Given the description of an element on the screen output the (x, y) to click on. 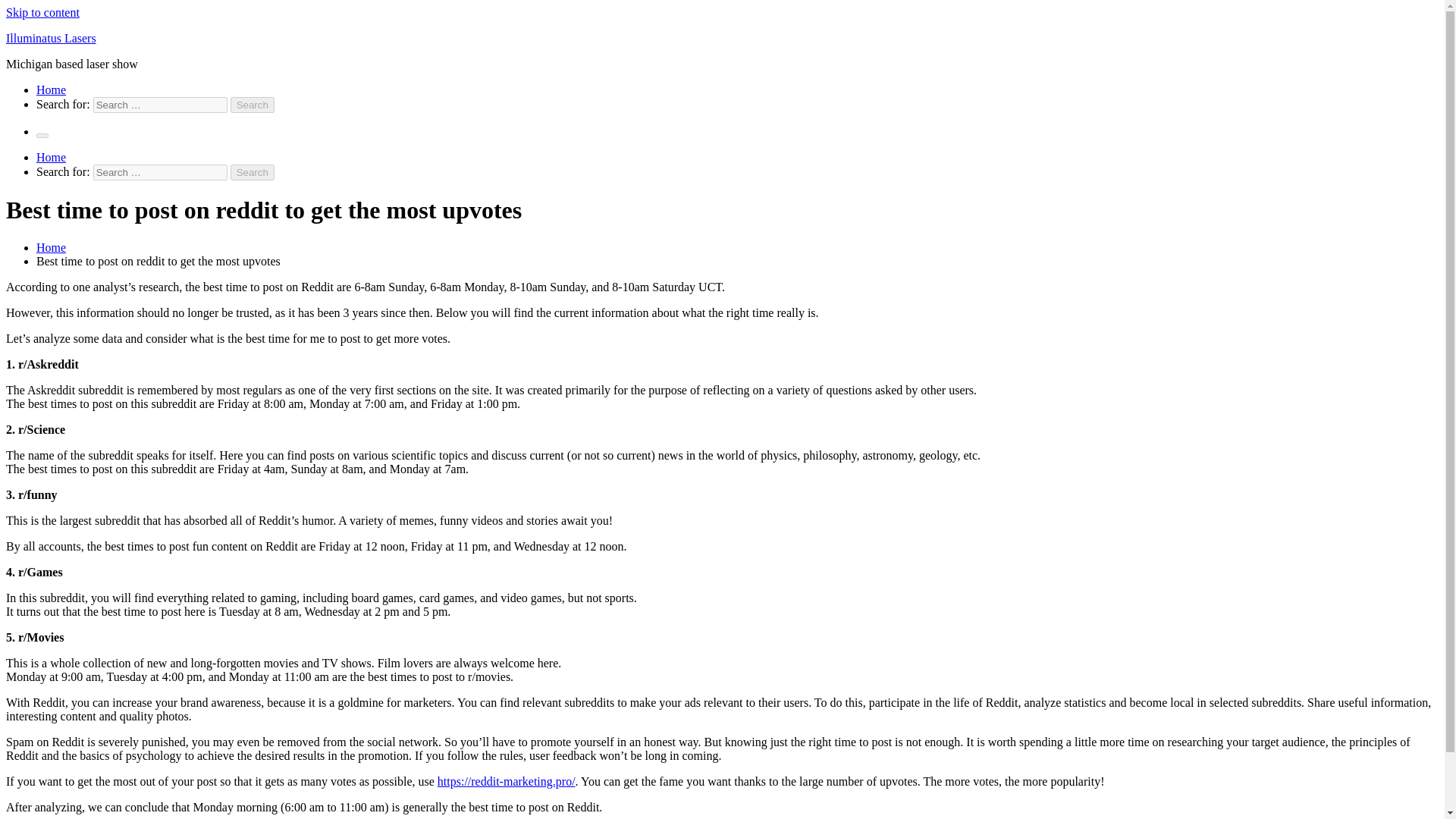
Home (50, 156)
Search (252, 105)
Skip to content (42, 11)
Home (50, 89)
Search (252, 172)
Home (50, 246)
Search (252, 172)
Search (252, 105)
Search (252, 172)
Illuminatus Lasers (50, 38)
Search (252, 105)
